Given the description of an element on the screen output the (x, y) to click on. 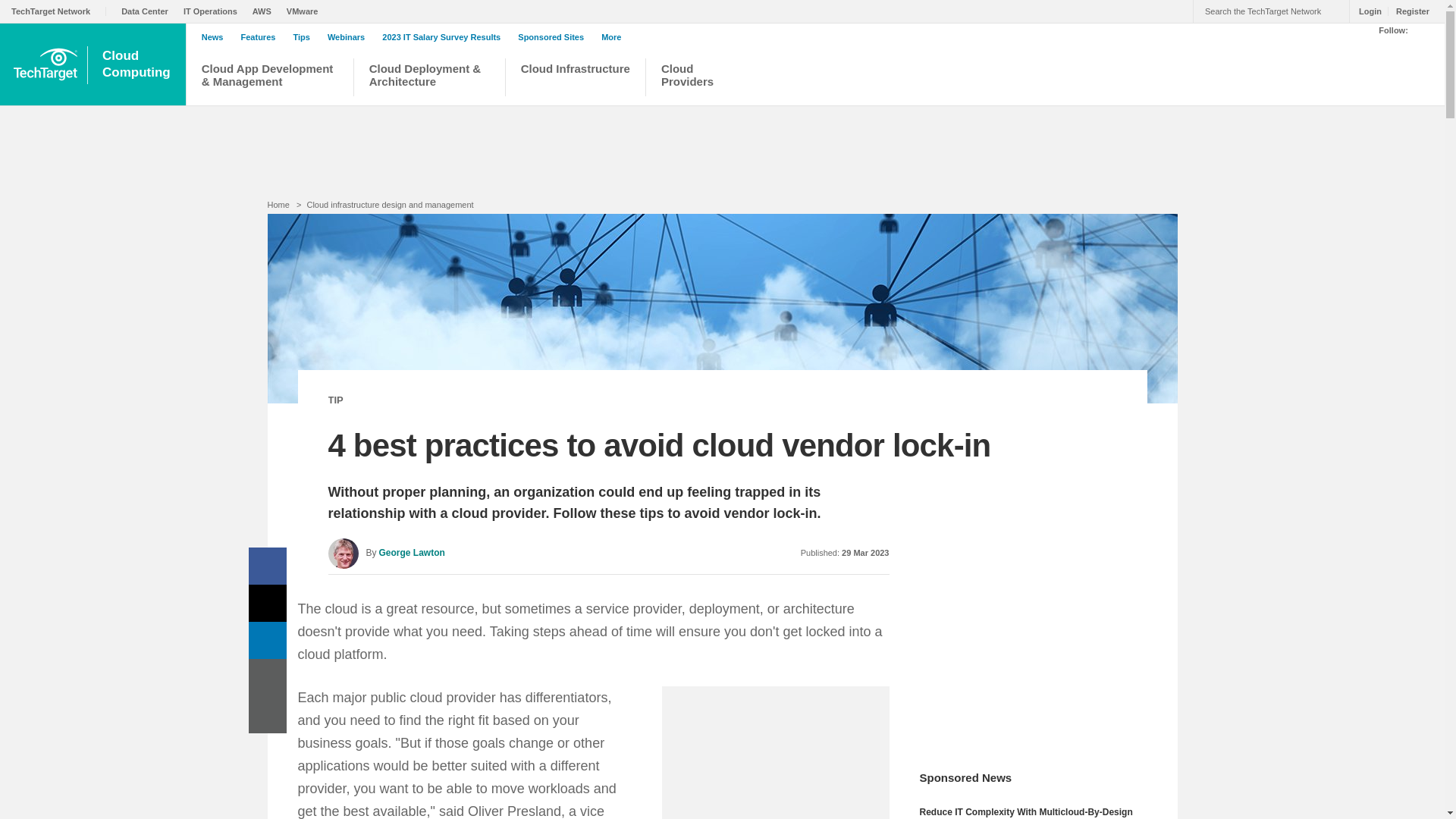
IT Operations (213, 10)
Tips (304, 36)
Register (1408, 10)
News (216, 36)
Share on Facebook (267, 565)
AWS (265, 10)
Cloud infrastructure design and management (389, 204)
Sponsored Sites (554, 36)
Data Center (148, 10)
Cloud Infrastructure (575, 79)
Features (262, 36)
Home (277, 204)
Login (138, 64)
More (1366, 10)
